Given the description of an element on the screen output the (x, y) to click on. 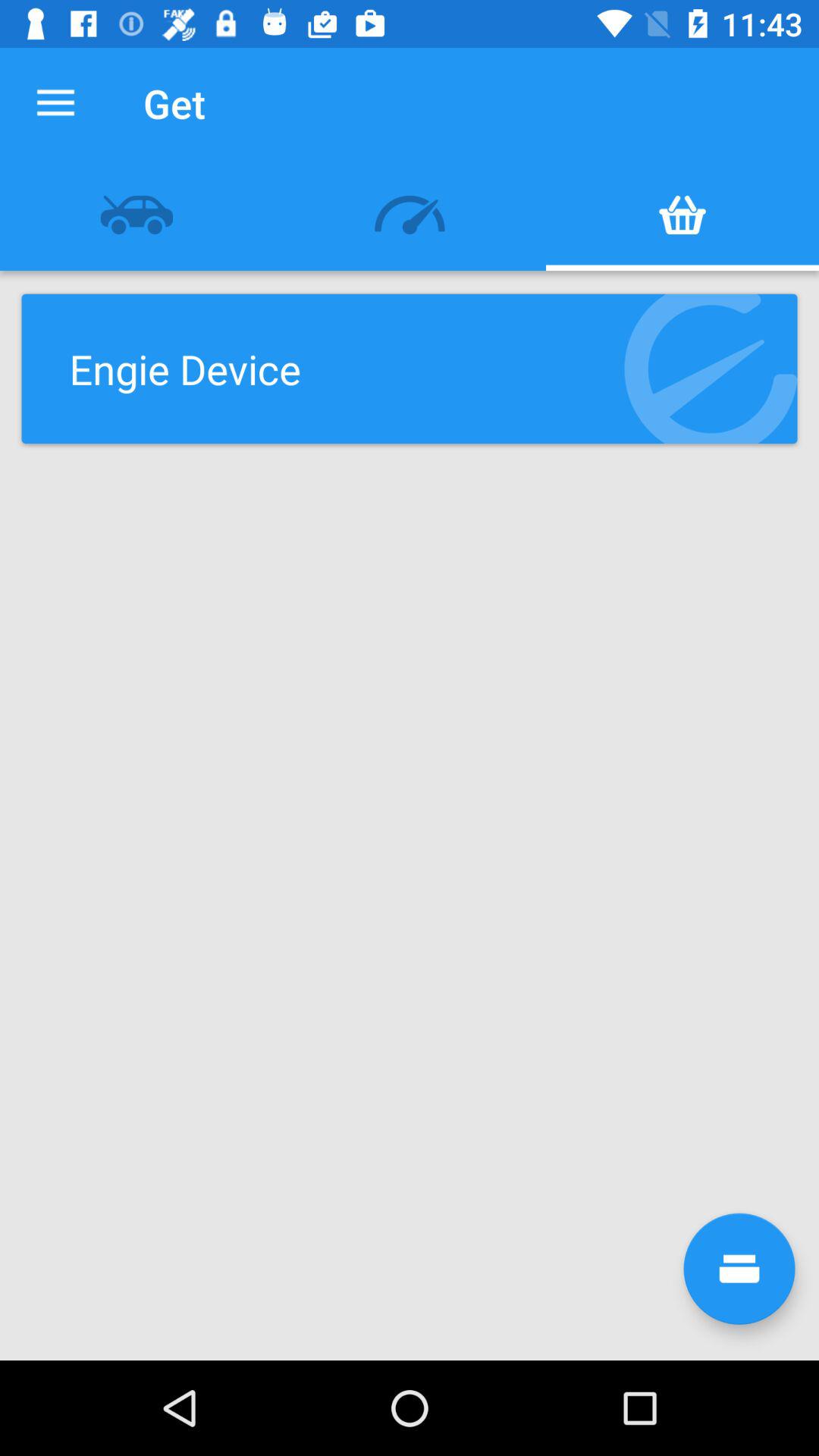
turn off the item to the left of get icon (55, 103)
